Given the description of an element on the screen output the (x, y) to click on. 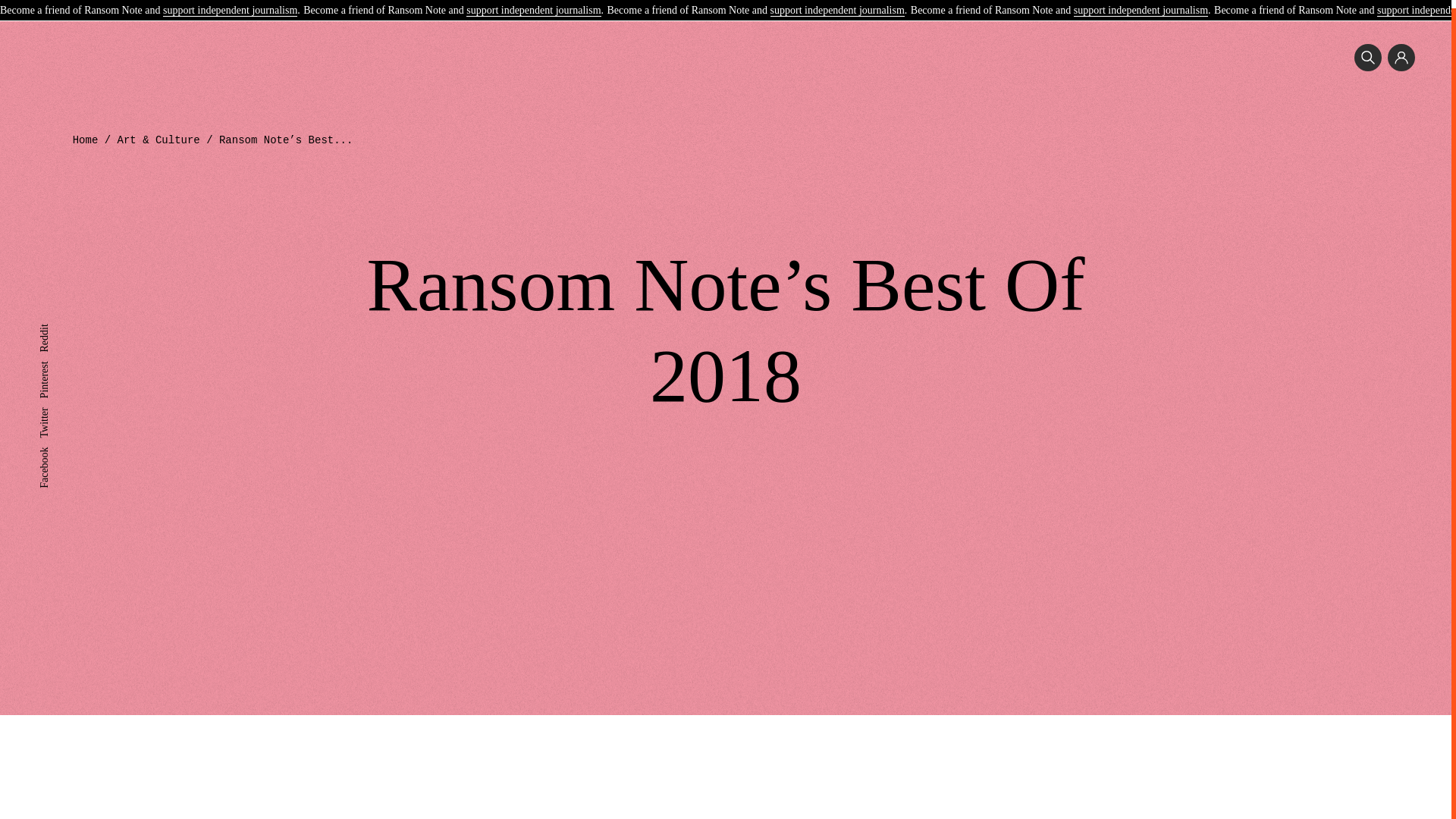
Facebook (59, 444)
Reddit (52, 321)
Twitter (53, 404)
support independent journalism (532, 4)
support independent journalism (1141, 4)
Home (85, 140)
support independent journalism (837, 4)
Pinterest (57, 358)
support independent journalism (230, 4)
